Given the description of an element on the screen output the (x, y) to click on. 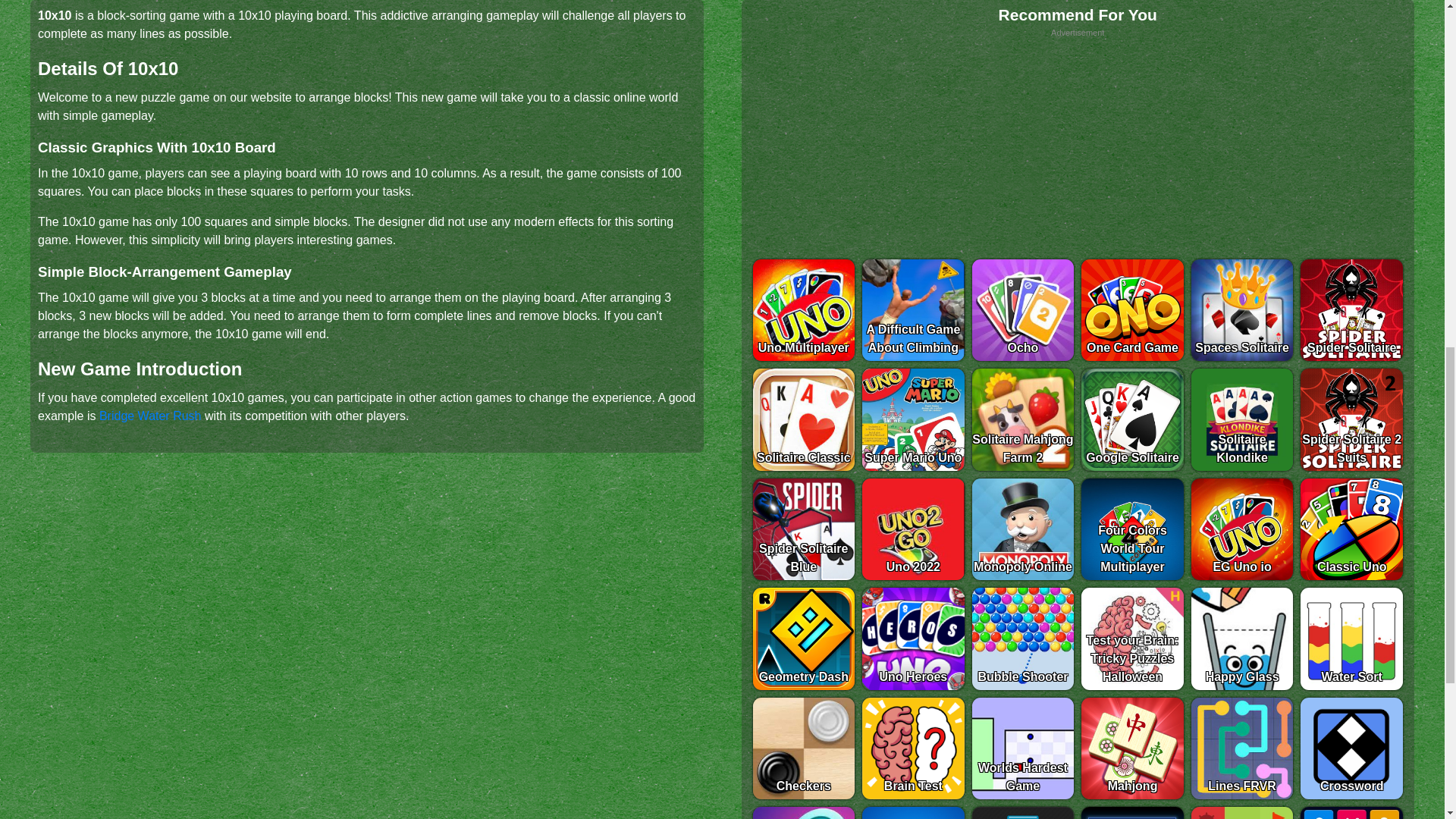
Uno Multiplayer (804, 310)
Ocho (1023, 310)
Bridge Water Rush (150, 415)
One Card Game (1132, 310)
A Difficult Game About Climbing (913, 310)
